Given the description of an element on the screen output the (x, y) to click on. 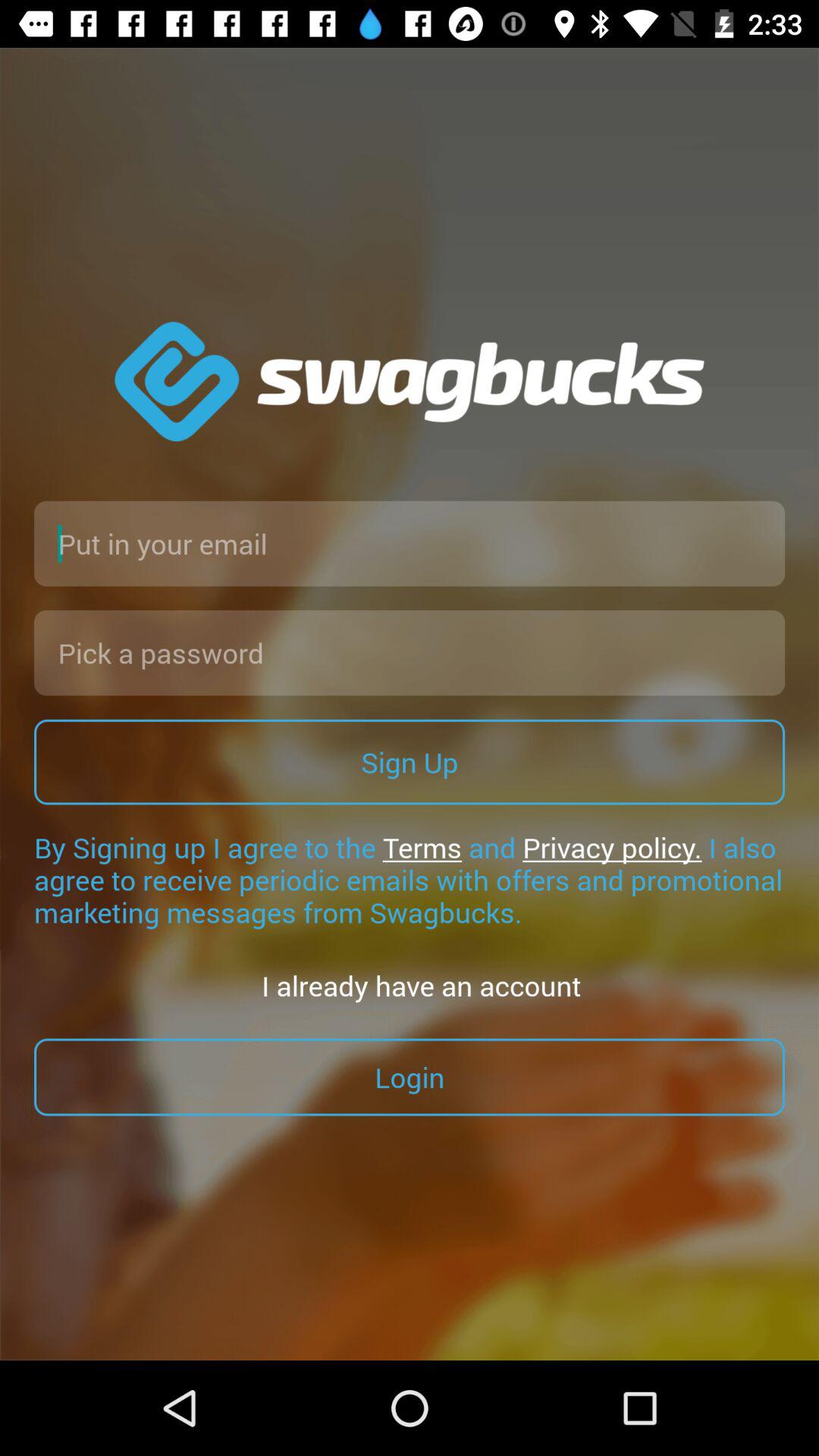
turn on item below the sign up (409, 879)
